Given the description of an element on the screen output the (x, y) to click on. 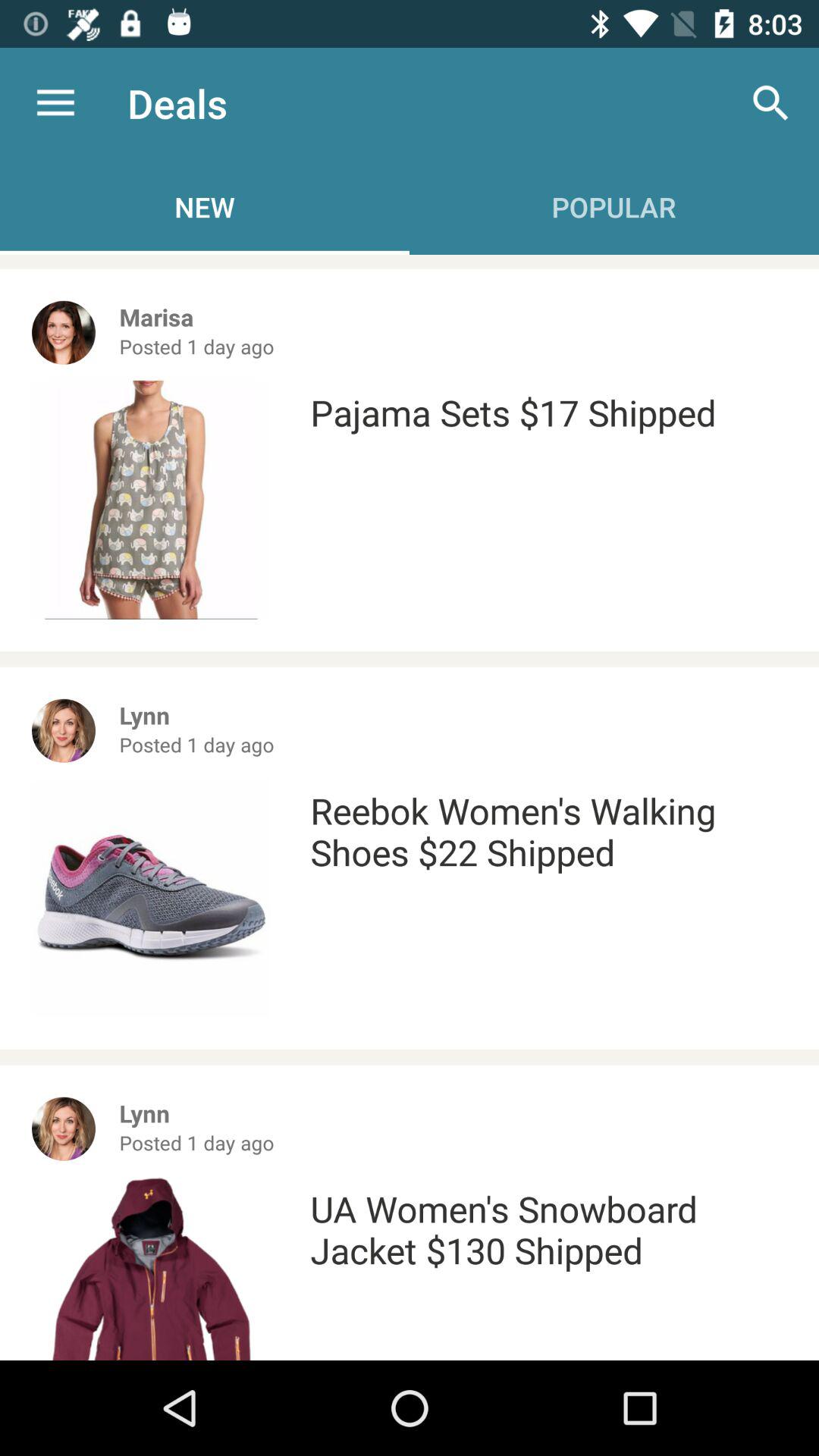
tap item above the pajama sets 17 icon (771, 103)
